Given the description of an element on the screen output the (x, y) to click on. 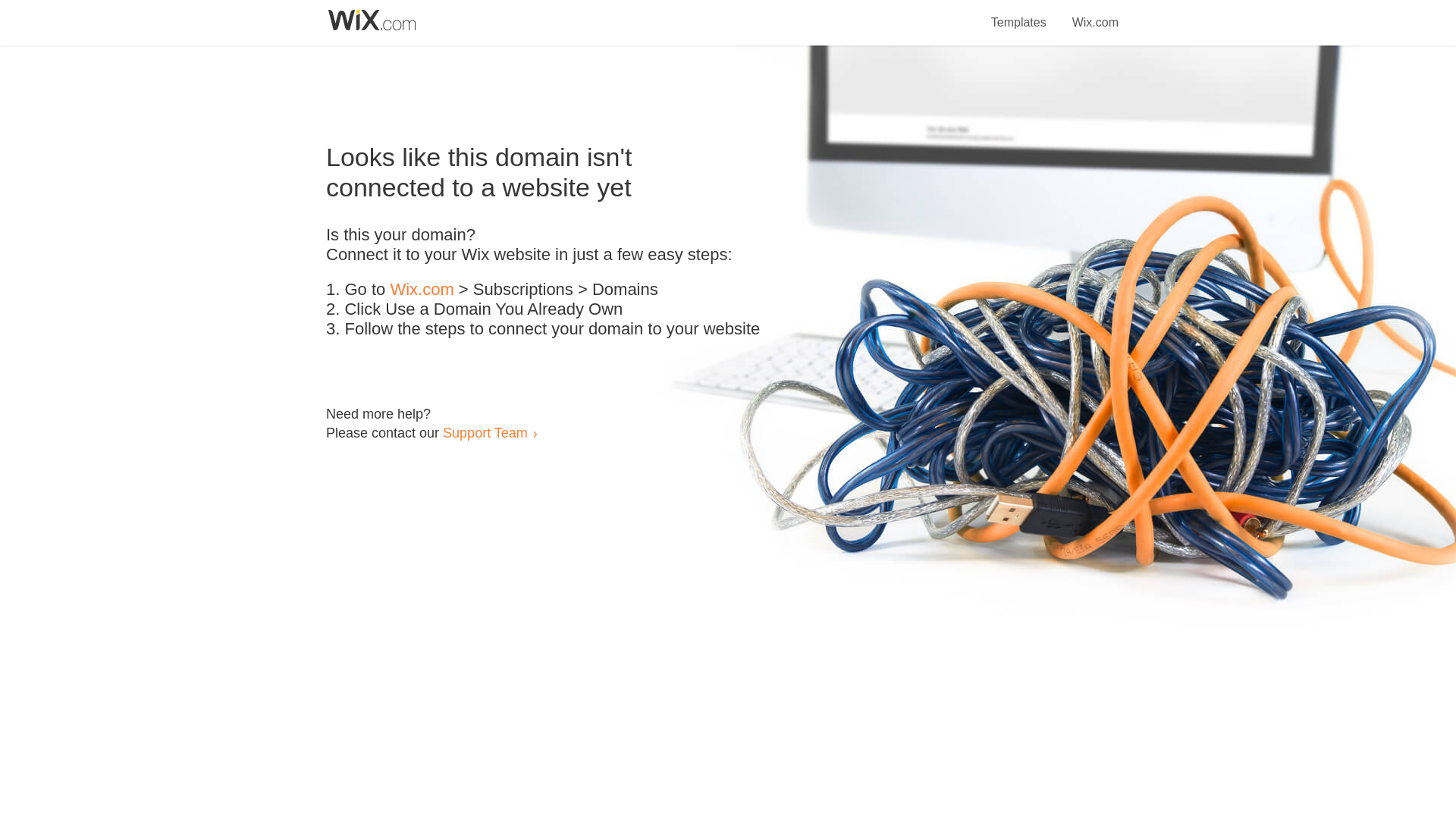
Wix.com (1095, 14)
Wix.com (421, 289)
Templates (1018, 14)
Support Team (484, 432)
